Given the description of an element on the screen output the (x, y) to click on. 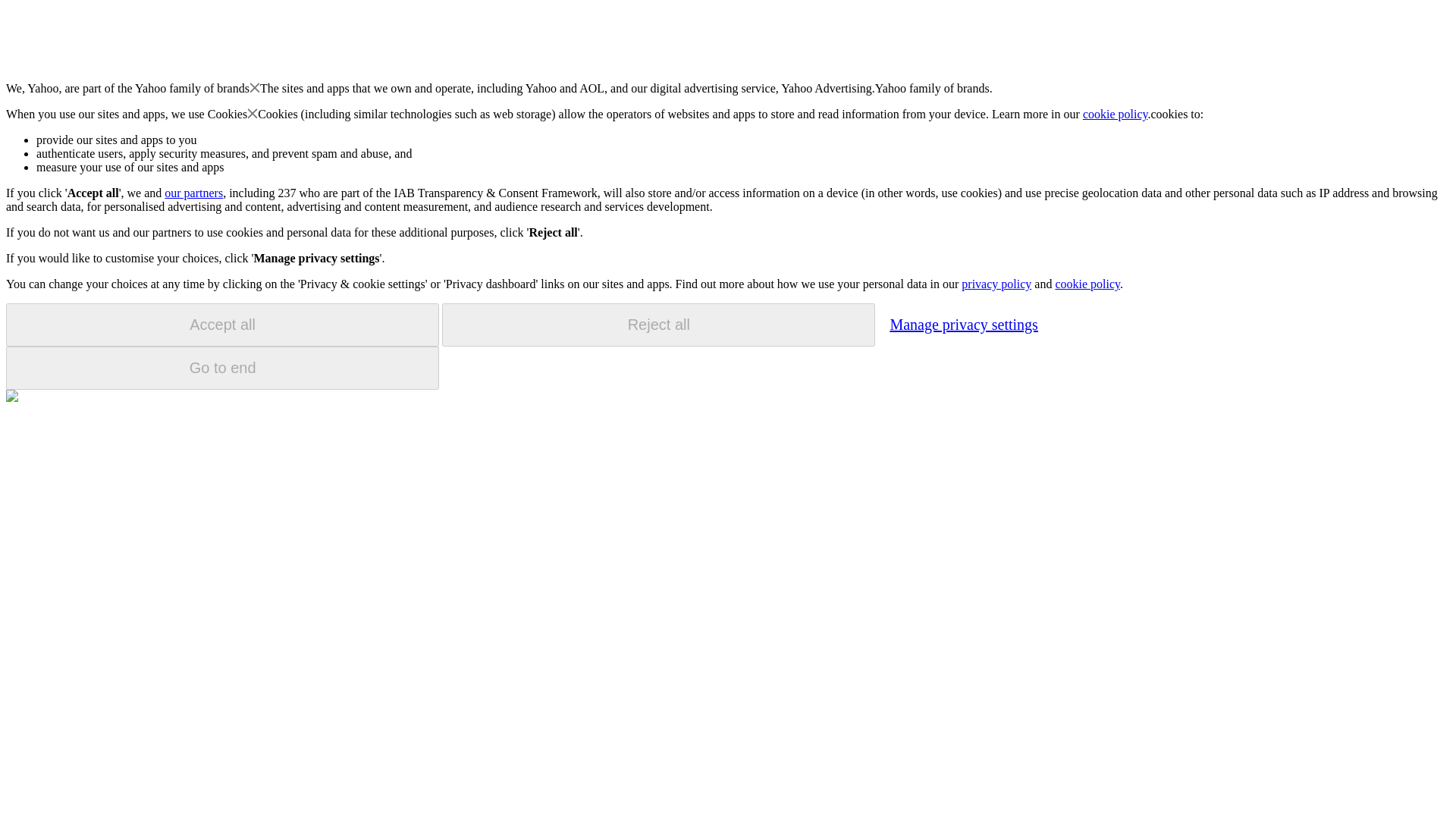
Go to end (222, 367)
our partners (193, 192)
Manage privacy settings (963, 323)
cookie policy (1086, 283)
privacy policy (995, 283)
cookie policy (1115, 113)
Reject all (658, 324)
Accept all (222, 324)
